Given the description of an element on the screen output the (x, y) to click on. 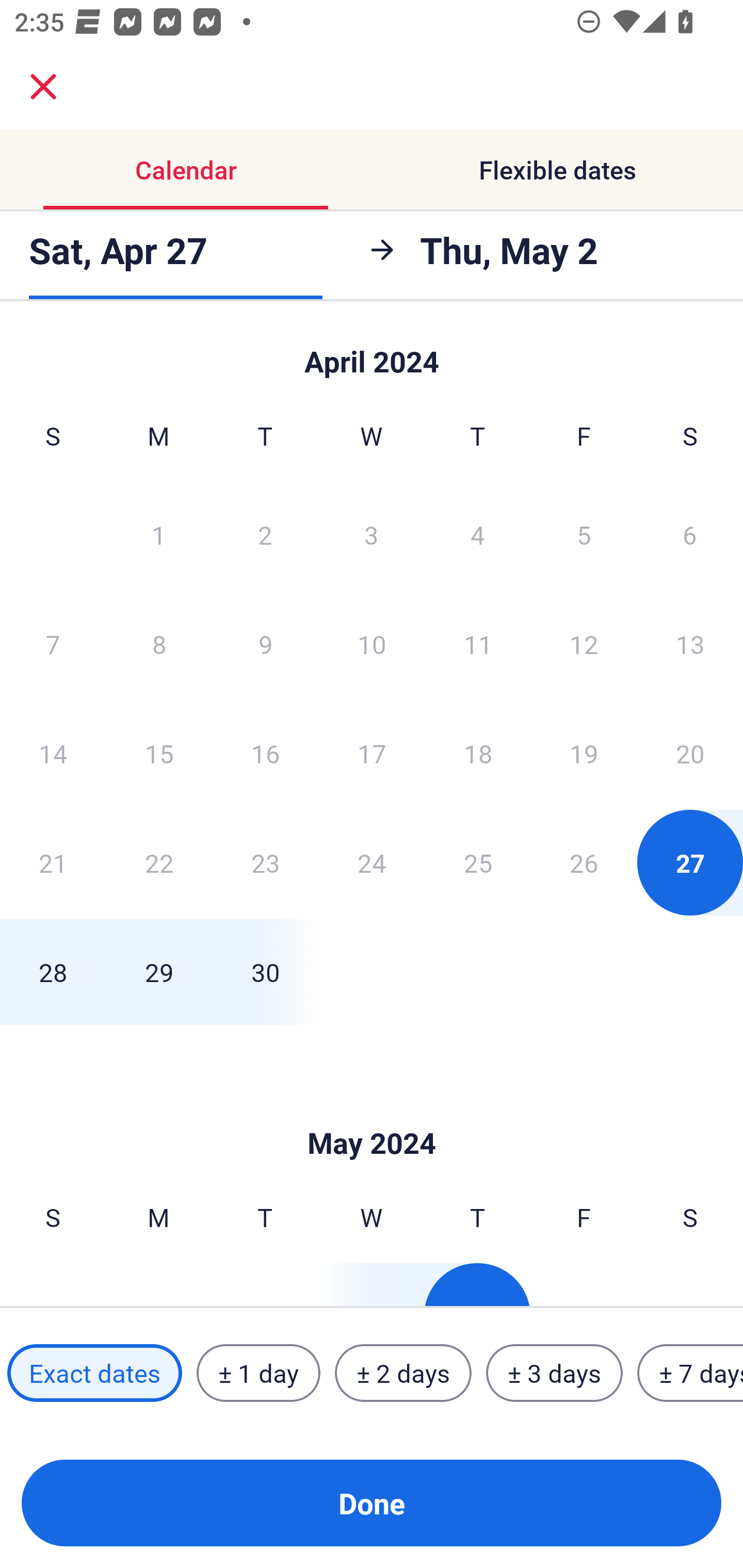
close. (43, 86)
Flexible dates (557, 170)
Skip to Done (371, 352)
1 Monday, April 1, 2024 (158, 534)
2 Tuesday, April 2, 2024 (264, 534)
3 Wednesday, April 3, 2024 (371, 534)
4 Thursday, April 4, 2024 (477, 534)
5 Friday, April 5, 2024 (583, 534)
6 Saturday, April 6, 2024 (689, 534)
7 Sunday, April 7, 2024 (53, 643)
8 Monday, April 8, 2024 (159, 643)
9 Tuesday, April 9, 2024 (265, 643)
10 Wednesday, April 10, 2024 (371, 643)
11 Thursday, April 11, 2024 (477, 643)
12 Friday, April 12, 2024 (584, 643)
13 Saturday, April 13, 2024 (690, 643)
14 Sunday, April 14, 2024 (53, 752)
15 Monday, April 15, 2024 (159, 752)
16 Tuesday, April 16, 2024 (265, 752)
17 Wednesday, April 17, 2024 (371, 752)
18 Thursday, April 18, 2024 (477, 752)
19 Friday, April 19, 2024 (584, 752)
20 Saturday, April 20, 2024 (690, 752)
21 Sunday, April 21, 2024 (53, 862)
22 Monday, April 22, 2024 (159, 862)
23 Tuesday, April 23, 2024 (265, 862)
24 Wednesday, April 24, 2024 (371, 862)
25 Thursday, April 25, 2024 (477, 862)
26 Friday, April 26, 2024 (584, 862)
Skip to Done (371, 1112)
Exact dates (94, 1372)
± 1 day (258, 1372)
± 2 days (403, 1372)
± 3 days (553, 1372)
± 7 days (690, 1372)
Done (371, 1502)
